Given the description of an element on the screen output the (x, y) to click on. 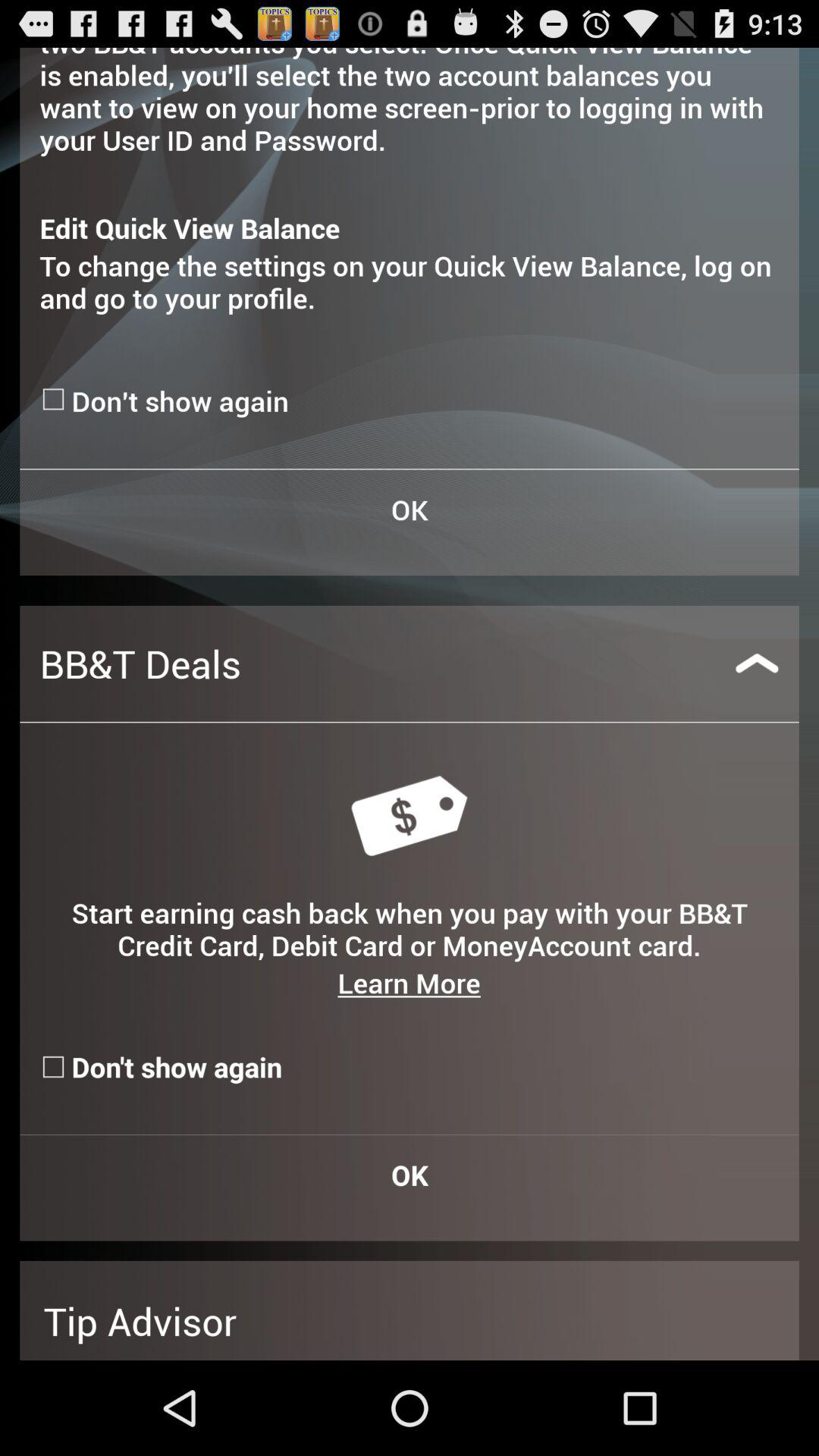
turn on the item below to change the icon (55, 398)
